Given the description of an element on the screen output the (x, y) to click on. 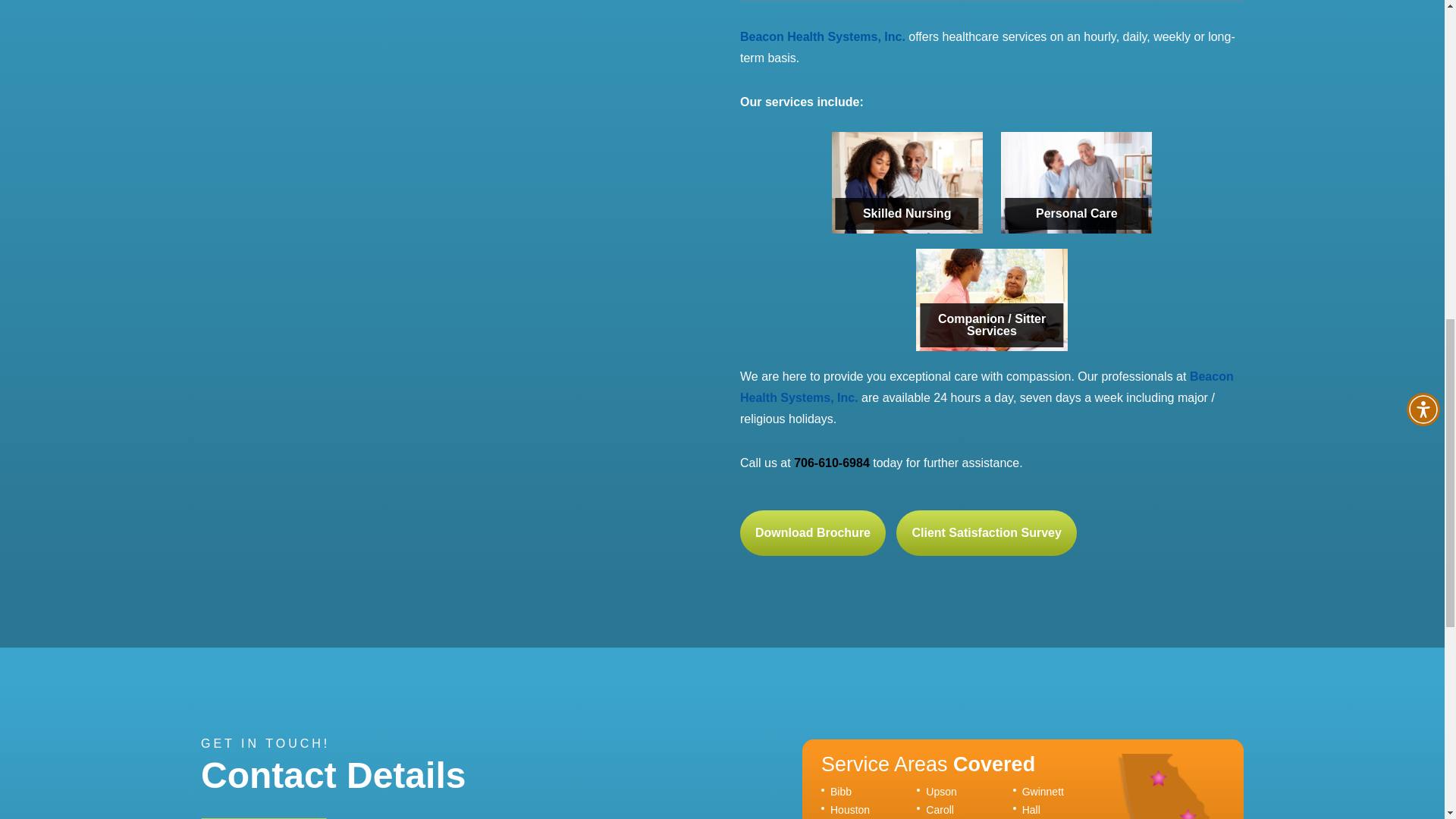
Personal Care (1076, 182)
Client Satisfaction Survey (985, 533)
Skilled Nursing (906, 182)
Download Brochure (812, 533)
